Given the description of an element on the screen output the (x, y) to click on. 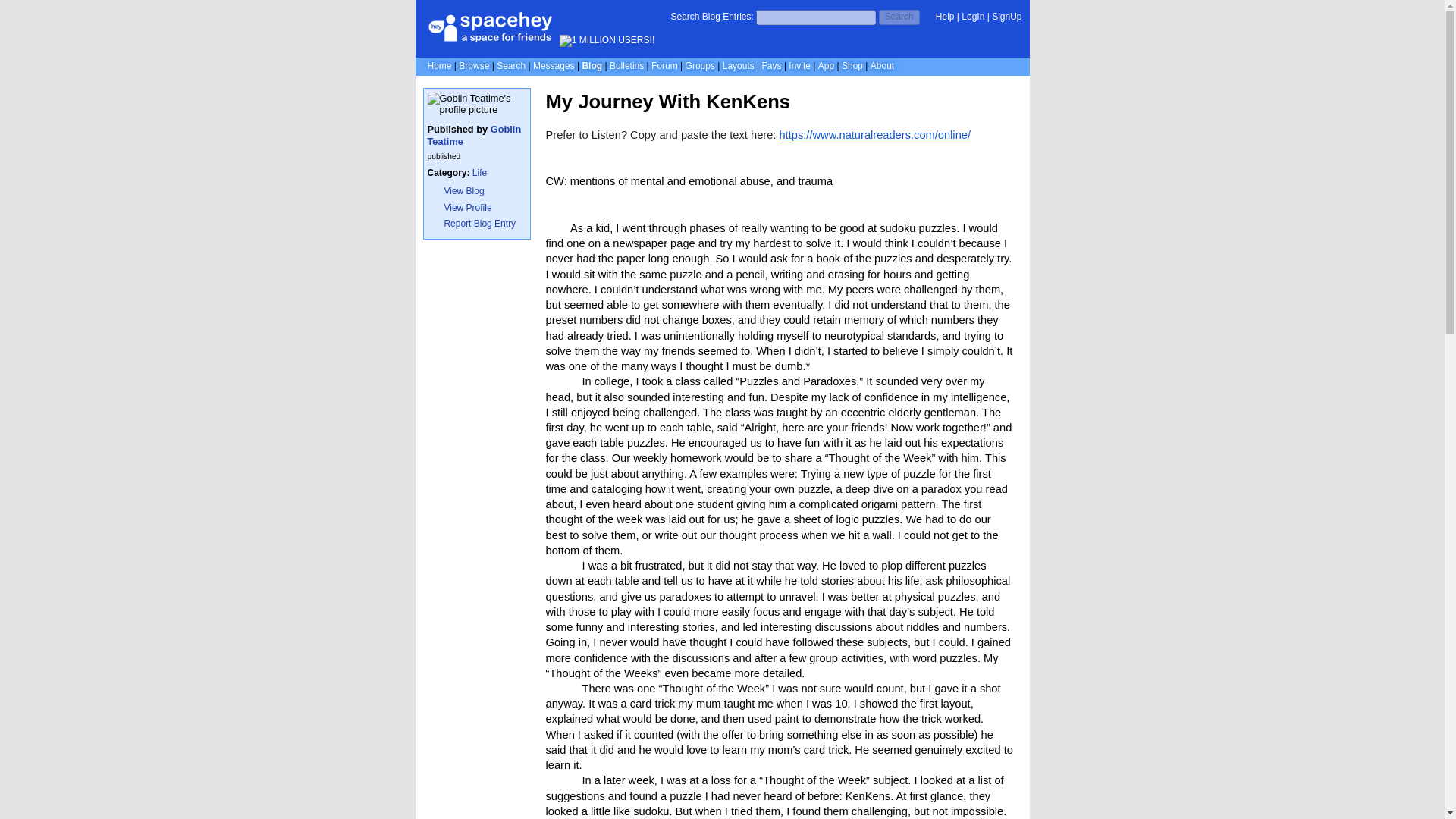
Messages (553, 65)
Search (899, 17)
Blog (591, 65)
LogIn (972, 16)
View Blog (476, 190)
Browse (473, 65)
Home (439, 65)
Report Blog Entry (476, 223)
Search (510, 65)
1 MILLION USERS!! (606, 40)
